Given the description of an element on the screen output the (x, y) to click on. 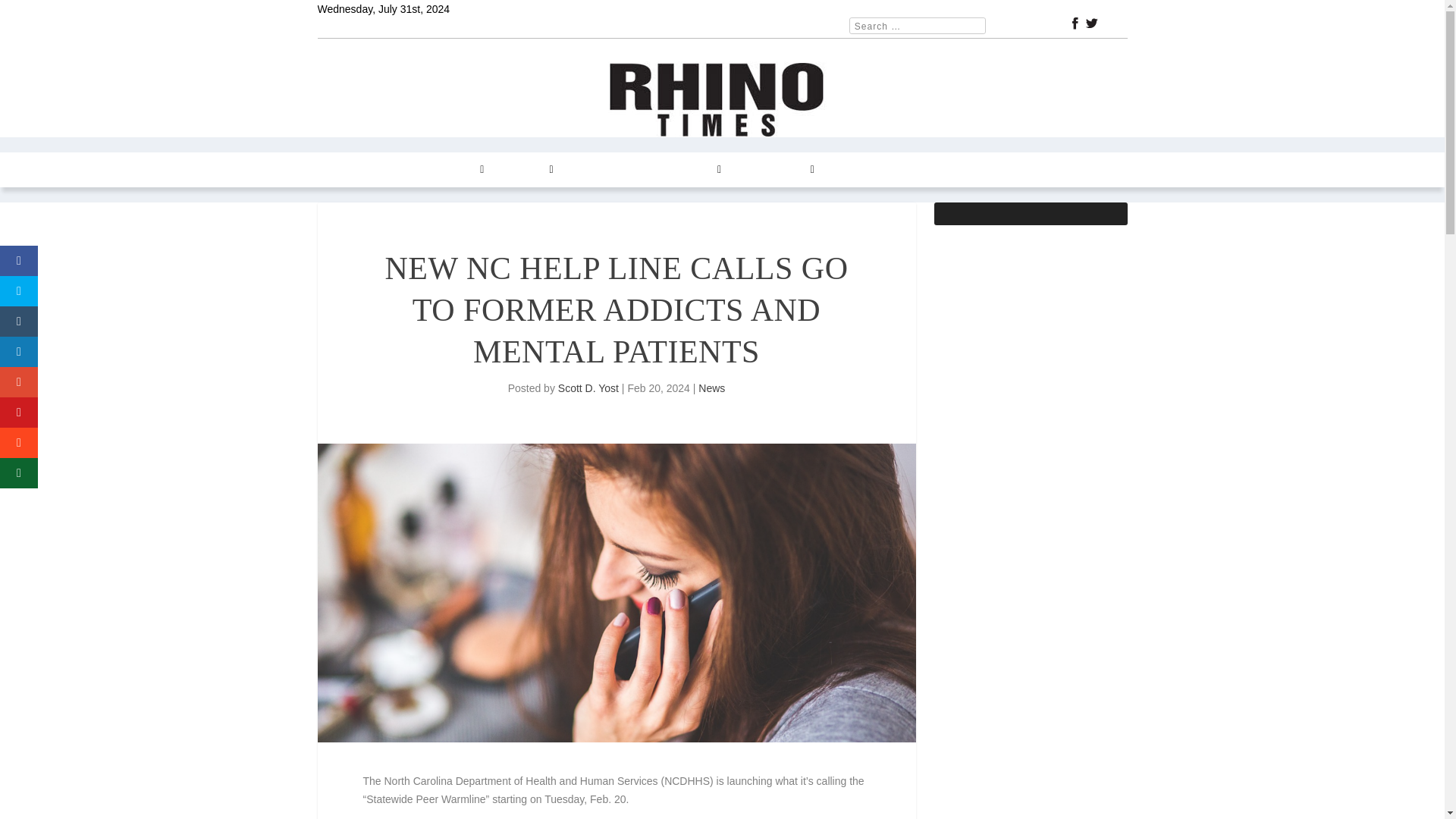
ARCHIVES (689, 169)
Search (31, 13)
News (711, 387)
HOME (342, 169)
ABOUT US (858, 169)
CONTACT US (775, 169)
OBITUARIES (935, 169)
COLUMNS (453, 169)
Posts by Scott D. Yost (587, 387)
NEWS (390, 169)
REAL ESTATE (606, 169)
OPINION (526, 169)
Scott D. Yost (587, 387)
